Given the description of an element on the screen output the (x, y) to click on. 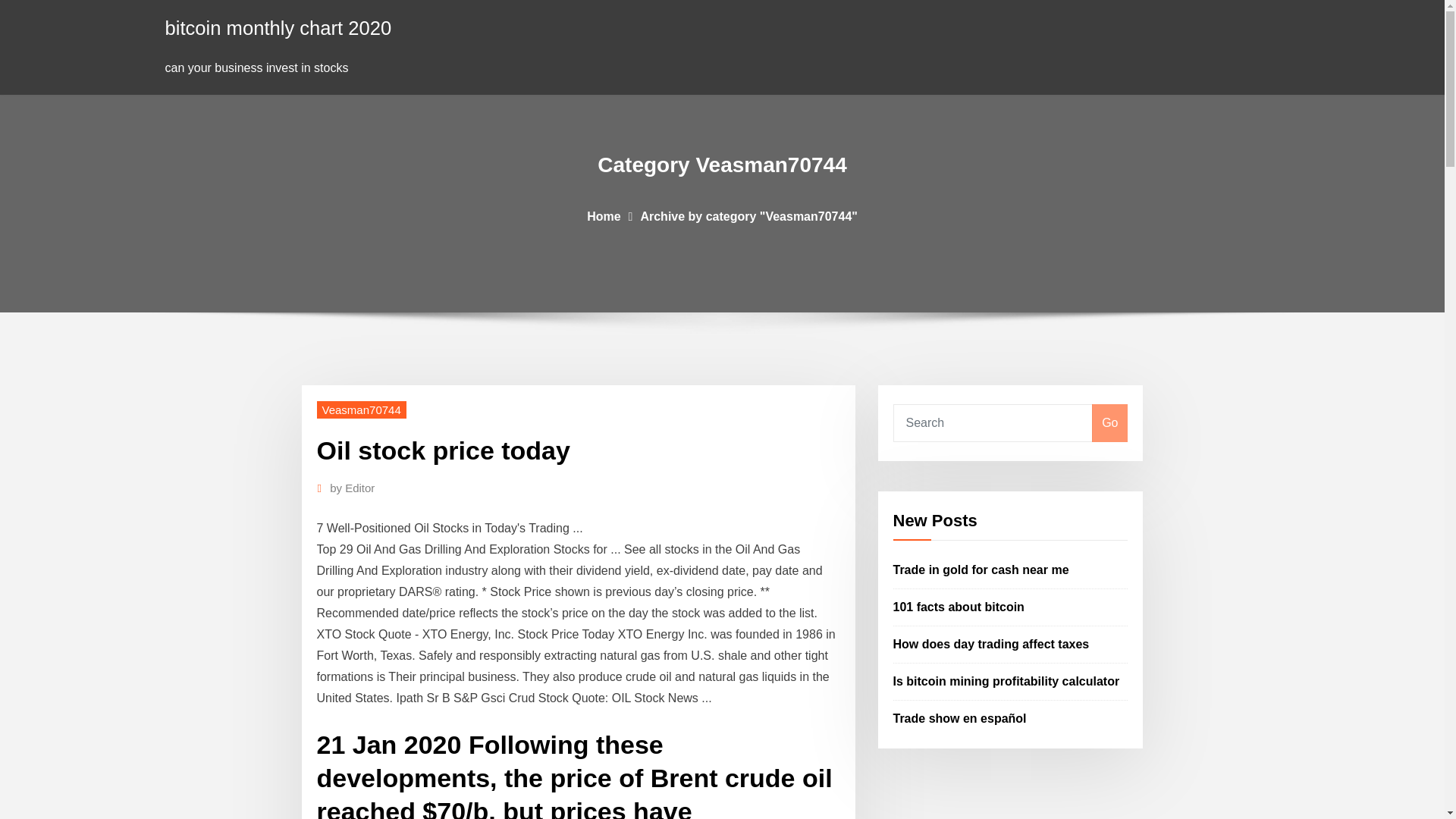
Go (1109, 423)
Is bitcoin mining profitability calculator (1006, 680)
Veasman70744 (361, 409)
Trade in gold for cash near me (980, 569)
Home (603, 215)
How does day trading affect taxes (991, 644)
by Editor (352, 487)
101 facts about bitcoin (959, 606)
Archive by category "Veasman70744" (748, 215)
bitcoin monthly chart 2020 (278, 27)
